Given the description of an element on the screen output the (x, y) to click on. 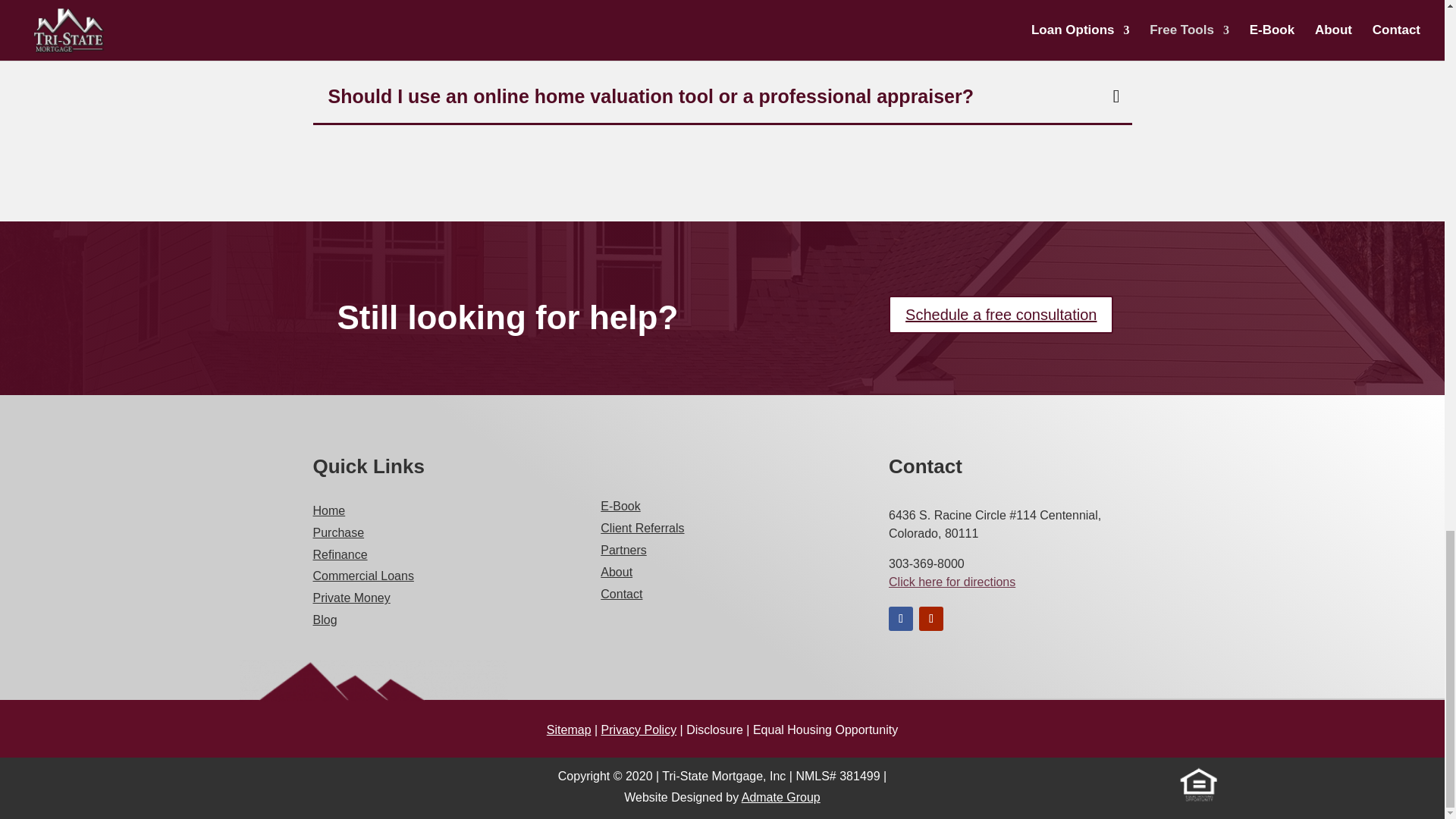
Schedule a free consultation (1000, 314)
E-Book (619, 505)
footer (351, 677)
Partners (622, 549)
Private Money (351, 597)
Purchase (338, 532)
Commercial Loans (363, 575)
Home (329, 510)
Client Referrals (641, 527)
Blog (324, 619)
Follow on Facebook (900, 618)
Follow on Youtube (930, 618)
Refinance (339, 554)
